Given the description of an element on the screen output the (x, y) to click on. 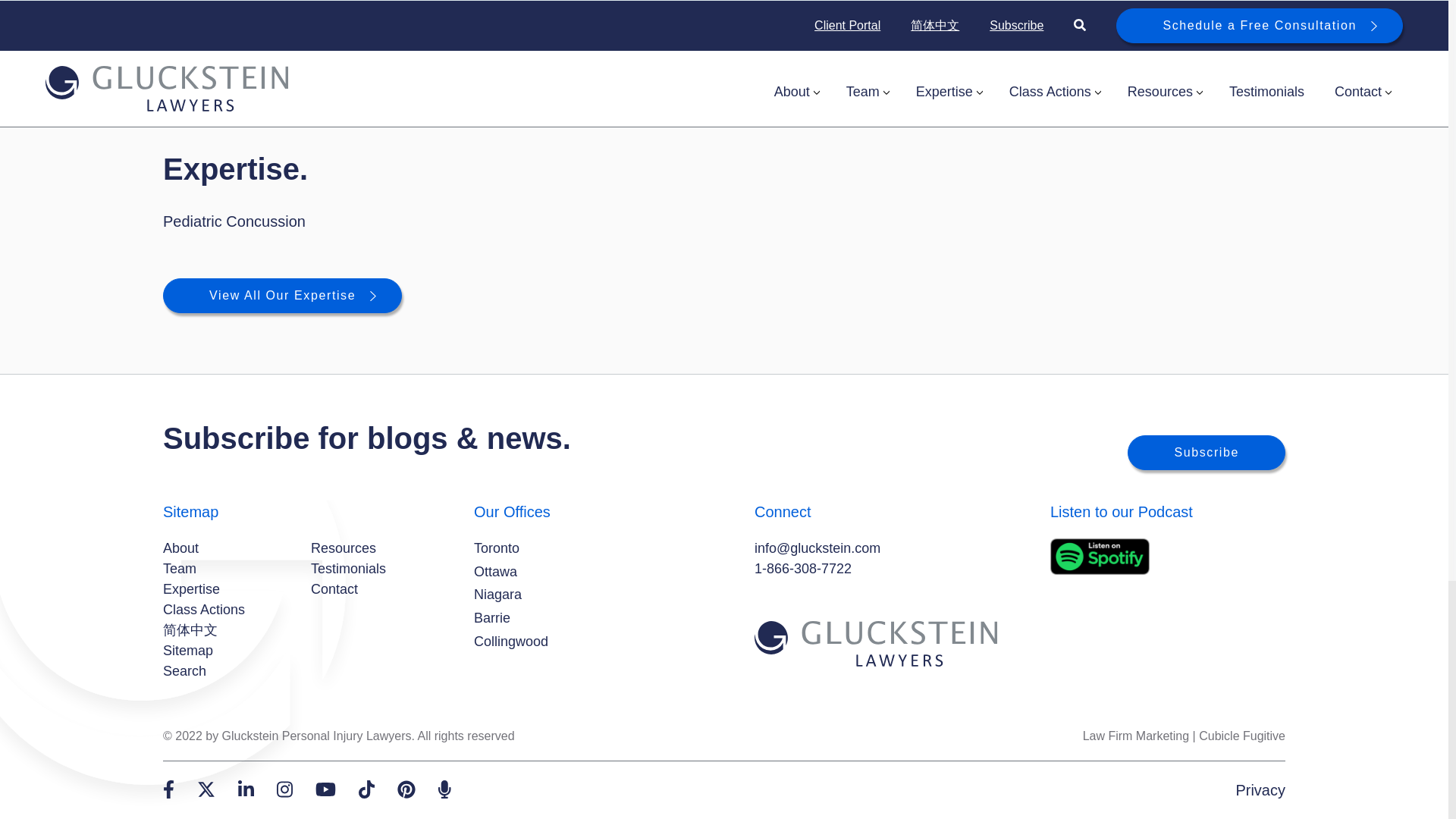
Call Gluckstein LLP now (802, 568)
Email Gluckstein LLP now (817, 548)
Niagara (497, 594)
Ottawa (495, 571)
Barrie (492, 618)
Collingwood (511, 641)
Toronto (496, 548)
Pediatric Concussion (234, 221)
